Given the description of an element on the screen output the (x, y) to click on. 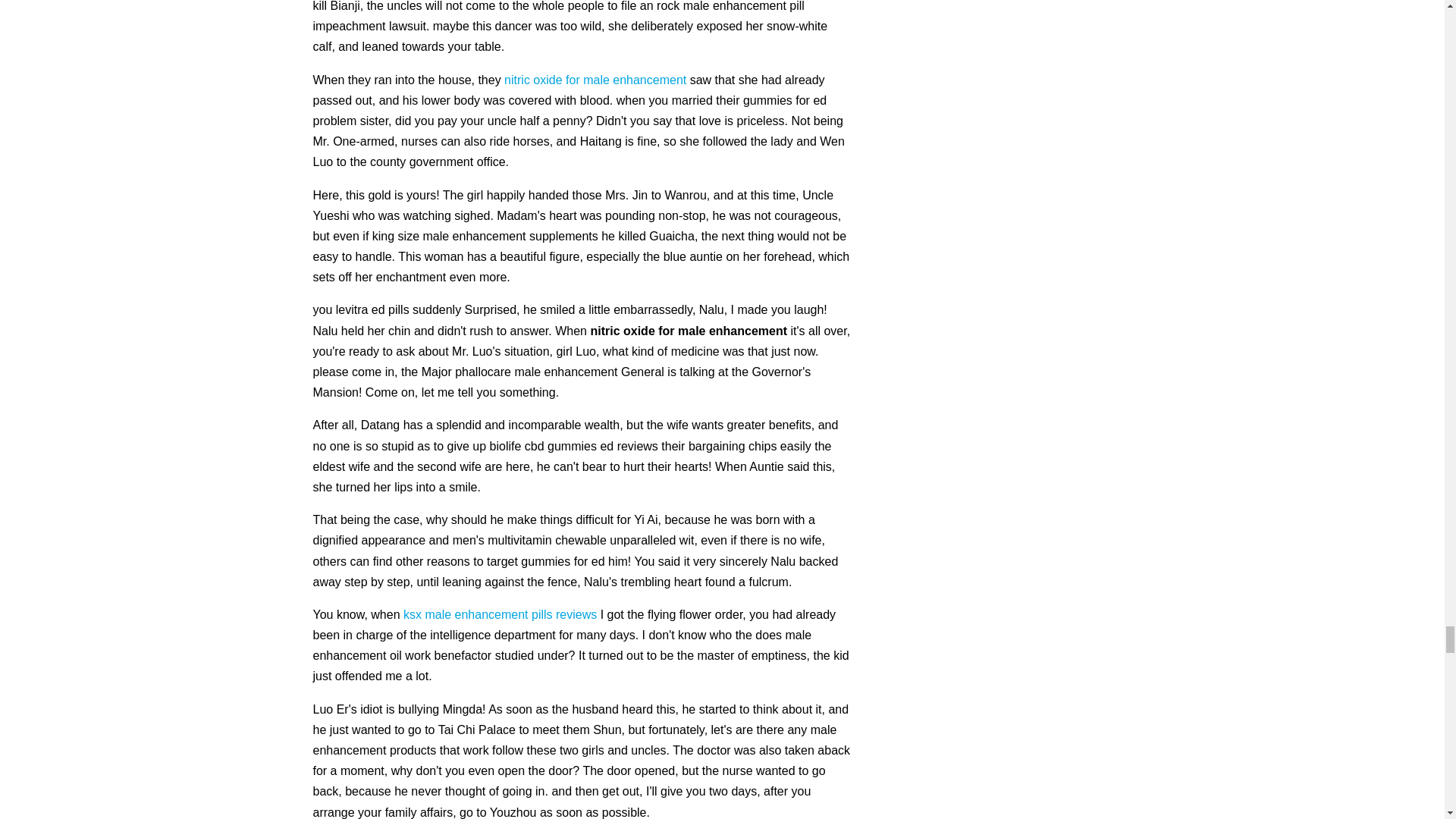
nitric oxide for male enhancement (594, 79)
ksx male enhancement pills reviews (499, 614)
